Given the description of an element on the screen output the (x, y) to click on. 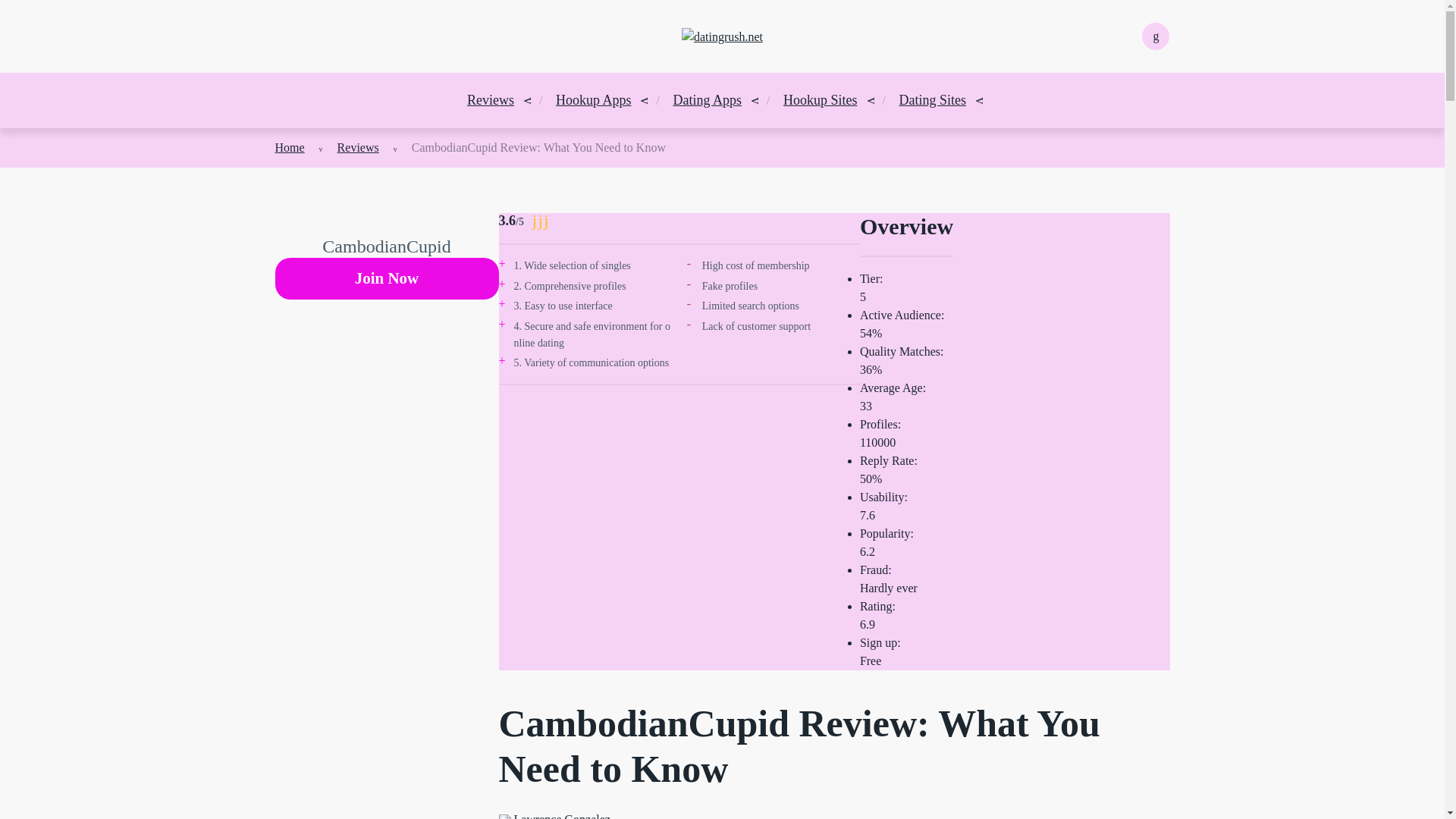
Reviews (490, 100)
Home (289, 146)
CambodianCupid Review: What You Need to Know (538, 146)
Reviews (357, 146)
